Given the description of an element on the screen output the (x, y) to click on. 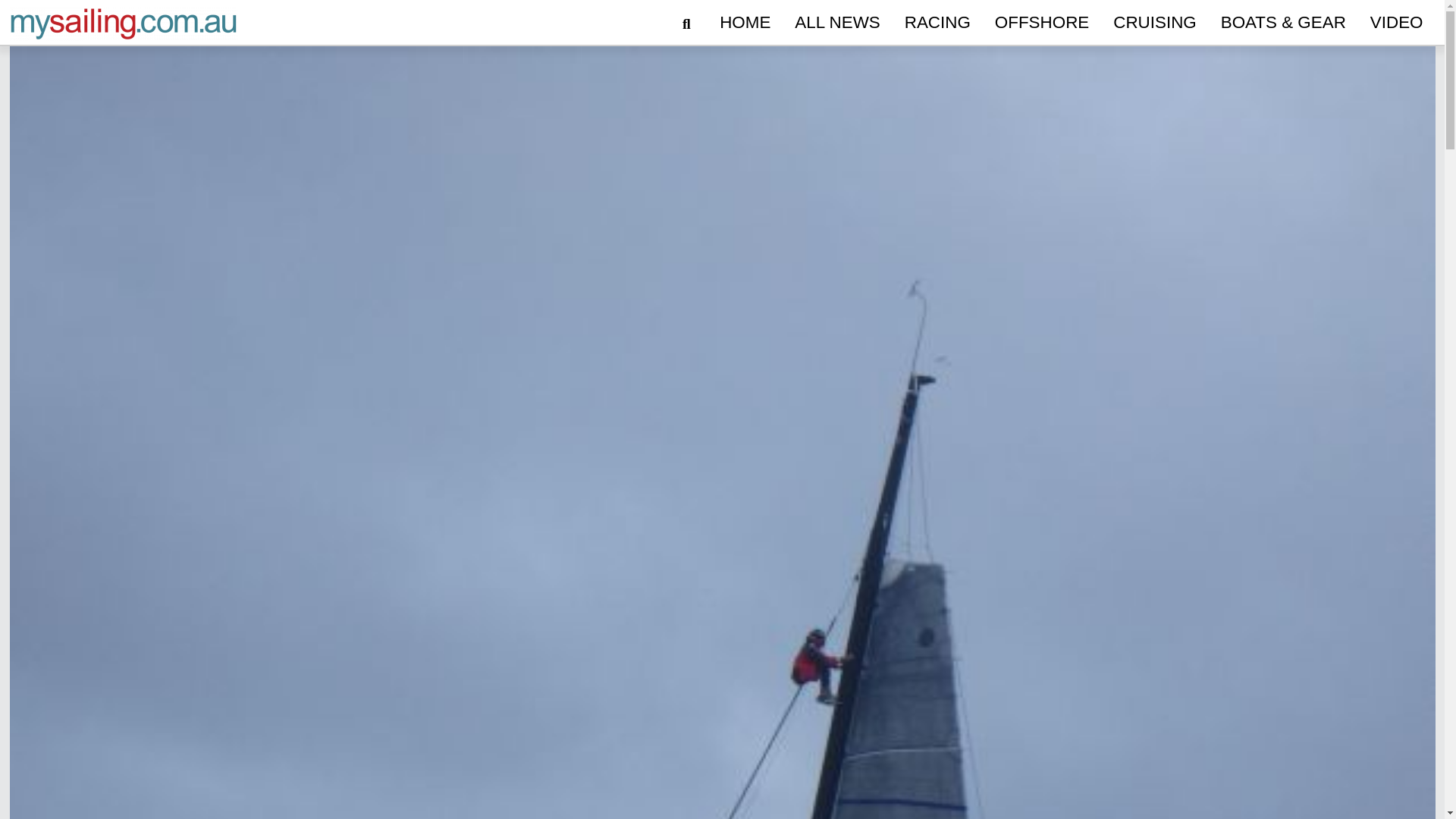
All News (837, 22)
HOME (744, 22)
CRUISING (1154, 22)
VIDEO (1396, 22)
OFFSHORE (1041, 22)
Offshore (1041, 22)
Video (1396, 22)
Home (744, 22)
Cruising (1154, 22)
ALL NEWS (837, 22)
RACING (937, 22)
Racing (937, 22)
